Given the description of an element on the screen output the (x, y) to click on. 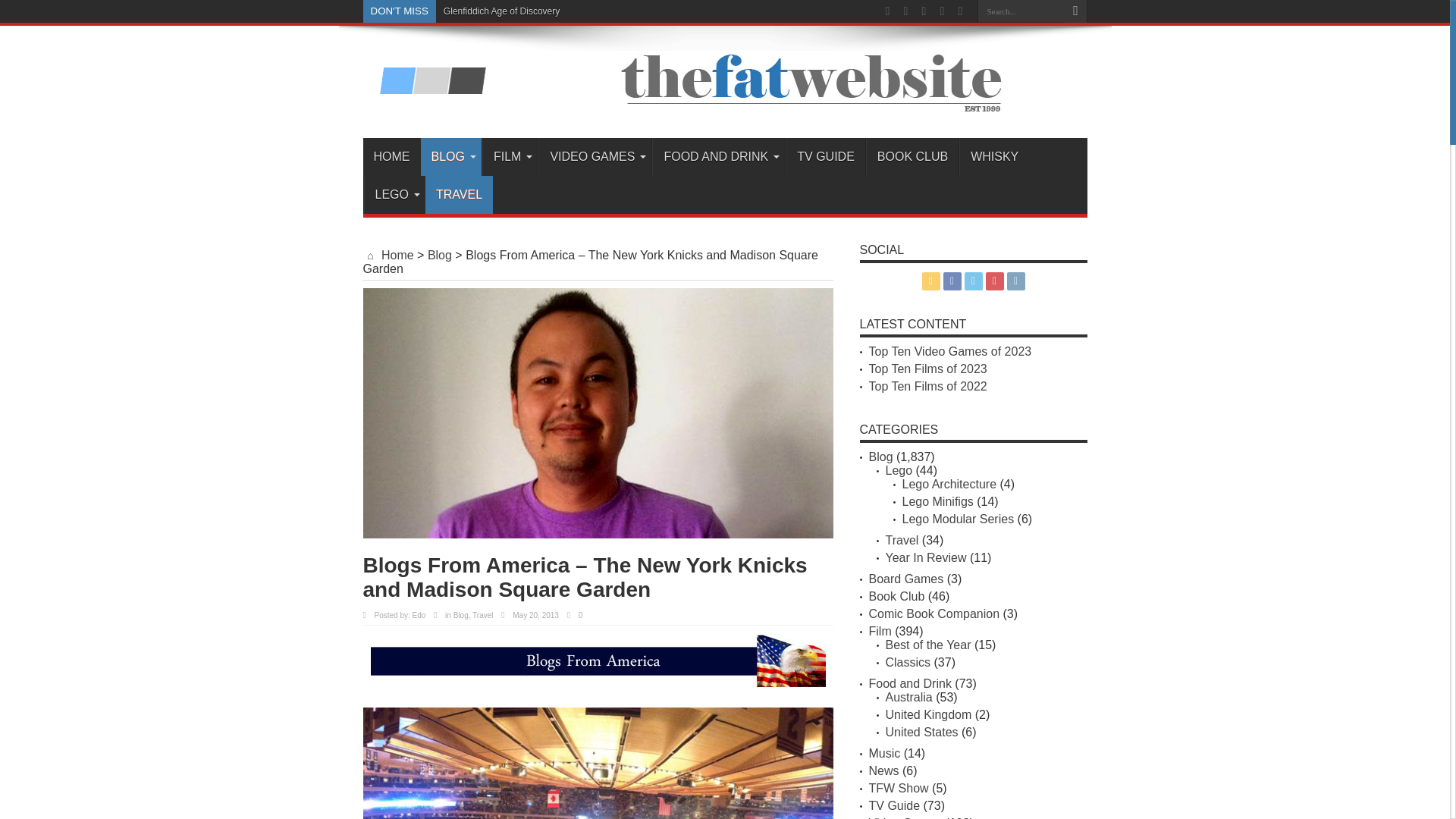
Travel (482, 614)
TV GUIDE (825, 157)
FILM (509, 157)
Search... (1020, 11)
LEGO (394, 194)
VIDEO GAMES (594, 157)
HOME (391, 157)
WHISKY (994, 157)
BLOG (450, 157)
FOOD AND DRINK (718, 157)
Blog (439, 254)
Glenfiddich Age of Discovery (501, 11)
Blog (460, 614)
Search (1075, 11)
TRAVEL (459, 194)
